Given the description of an element on the screen output the (x, y) to click on. 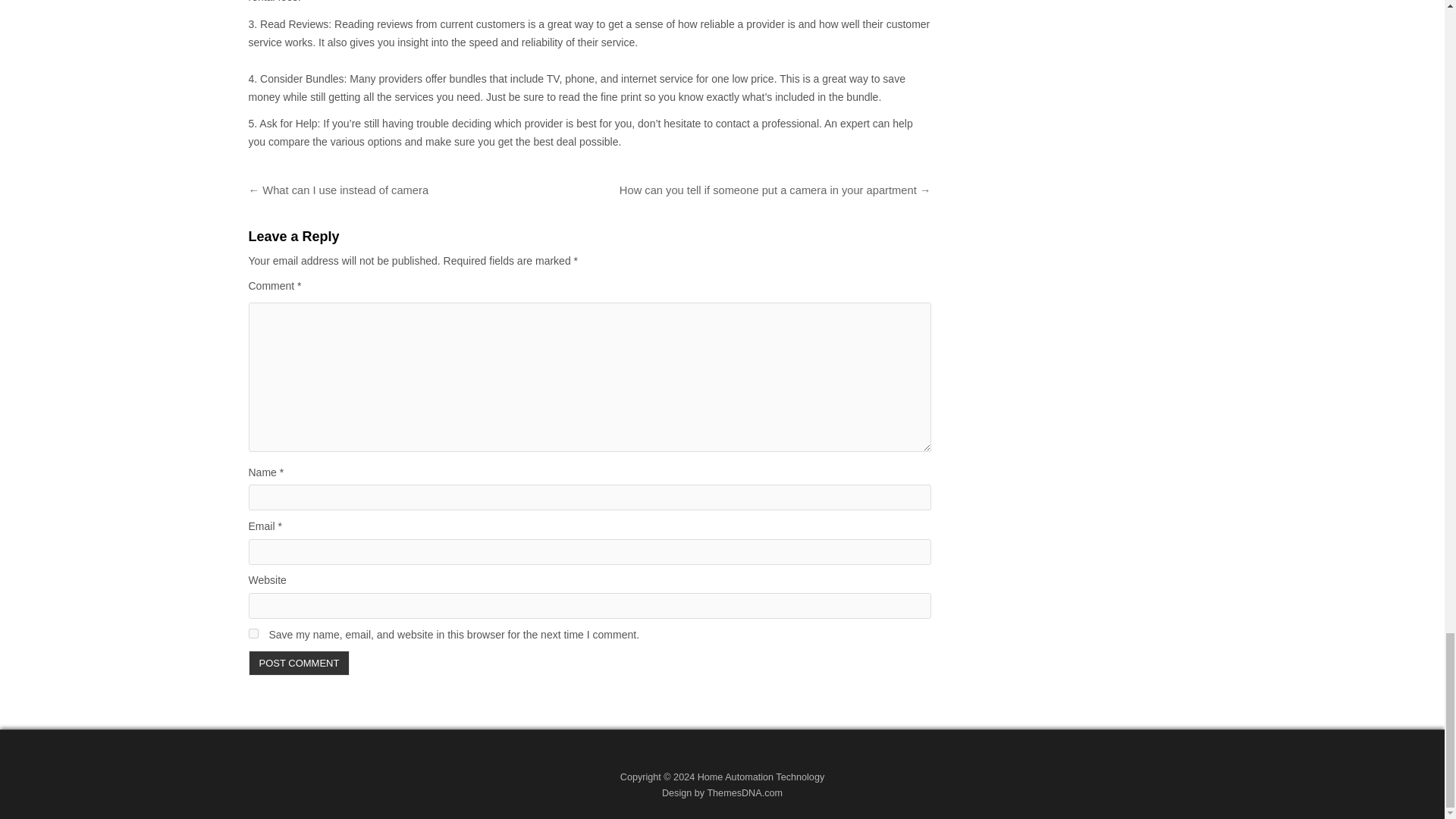
Post Comment (299, 662)
yes (253, 633)
Design by ThemesDNA.com (722, 792)
Post Comment (299, 662)
